Given the description of an element on the screen output the (x, y) to click on. 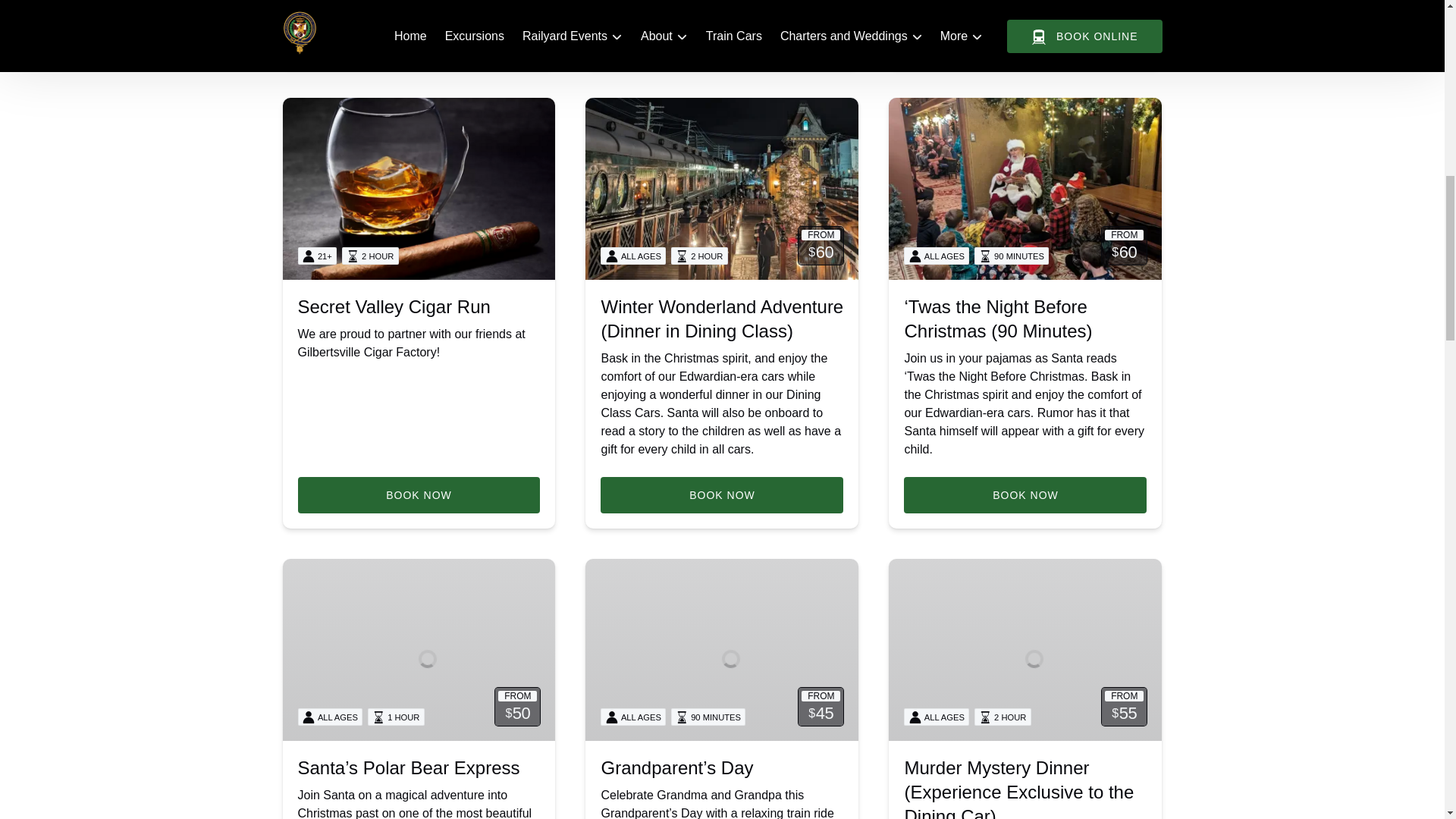
FareHarbor (1342, 64)
BOOK NOW (721, 33)
BOOK NOW (418, 33)
BOOK NOW (1025, 33)
